Given the description of an element on the screen output the (x, y) to click on. 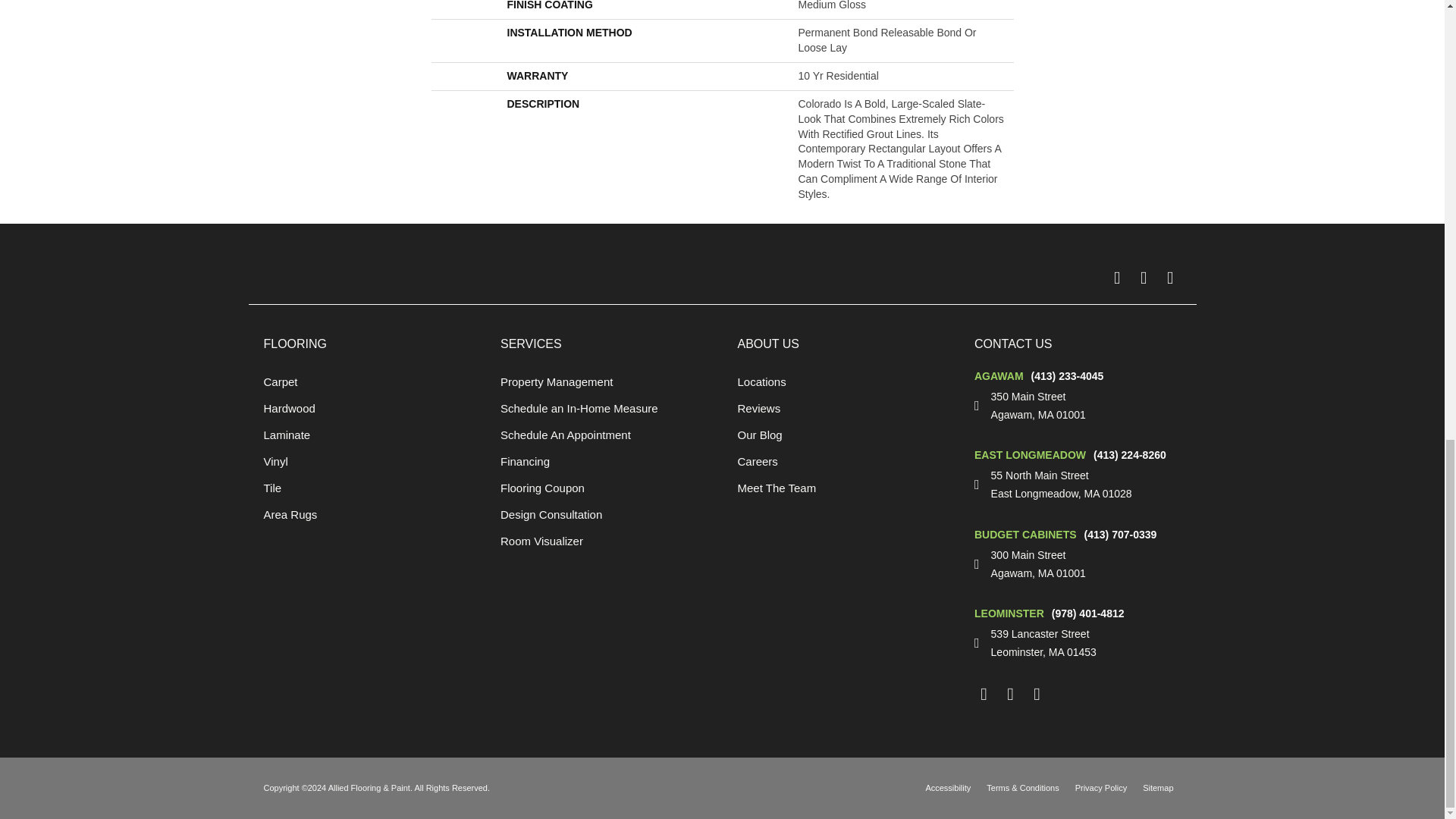
CONTACT US (1013, 343)
SERVICES (531, 343)
FLOORING (295, 343)
ABOUT US (767, 343)
